Given the description of an element on the screen output the (x, y) to click on. 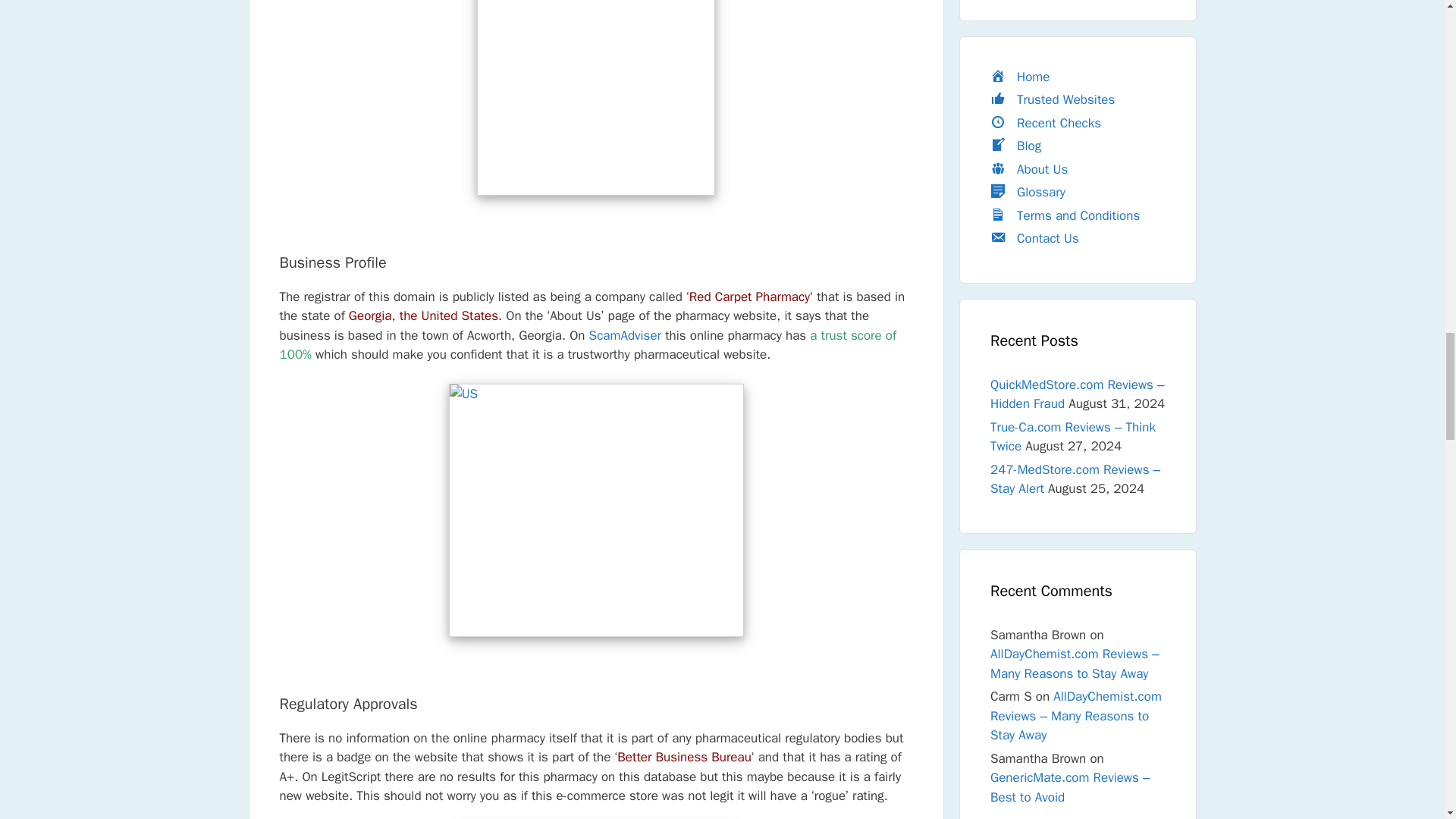
country (596, 510)
ScamAdviser (625, 335)
creation date (595, 97)
